Given the description of an element on the screen output the (x, y) to click on. 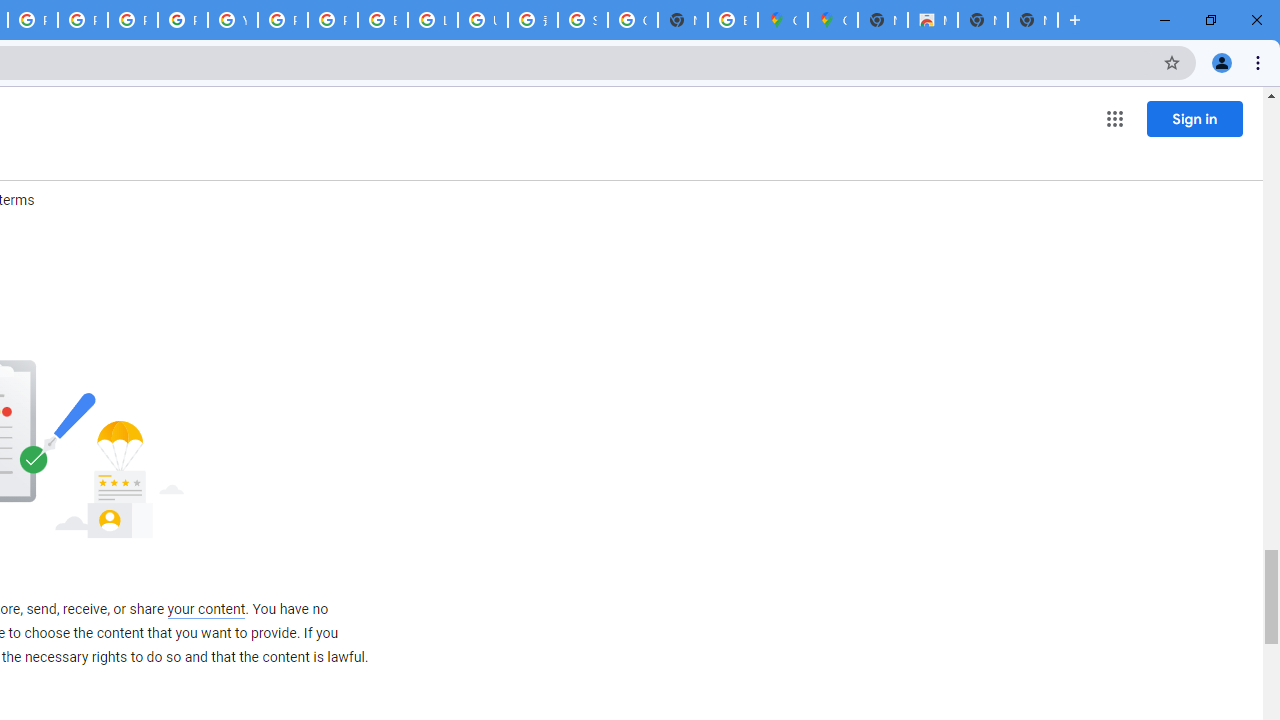
Sign in (1194, 118)
Bookmark this tab (1171, 62)
Chrome (1260, 62)
You (1221, 62)
New Tab (882, 20)
Google Maps (832, 20)
Privacy Help Center - Policies Help (82, 20)
Google apps (1114, 118)
New Tab (1075, 20)
Sign in - Google Accounts (582, 20)
YouTube (232, 20)
